Given the description of an element on the screen output the (x, y) to click on. 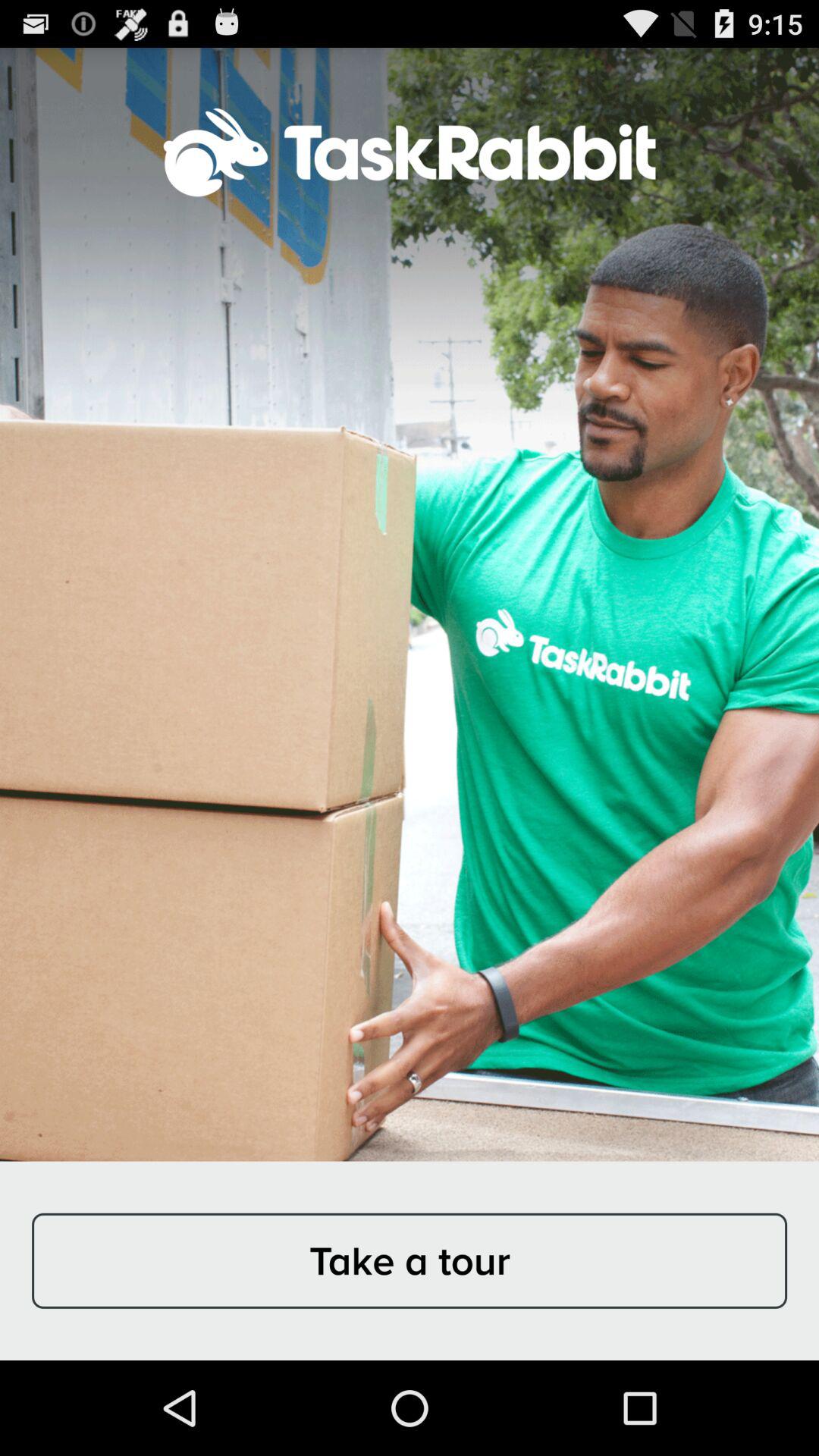
scroll to the take a tour item (409, 1260)
